Given the description of an element on the screen output the (x, y) to click on. 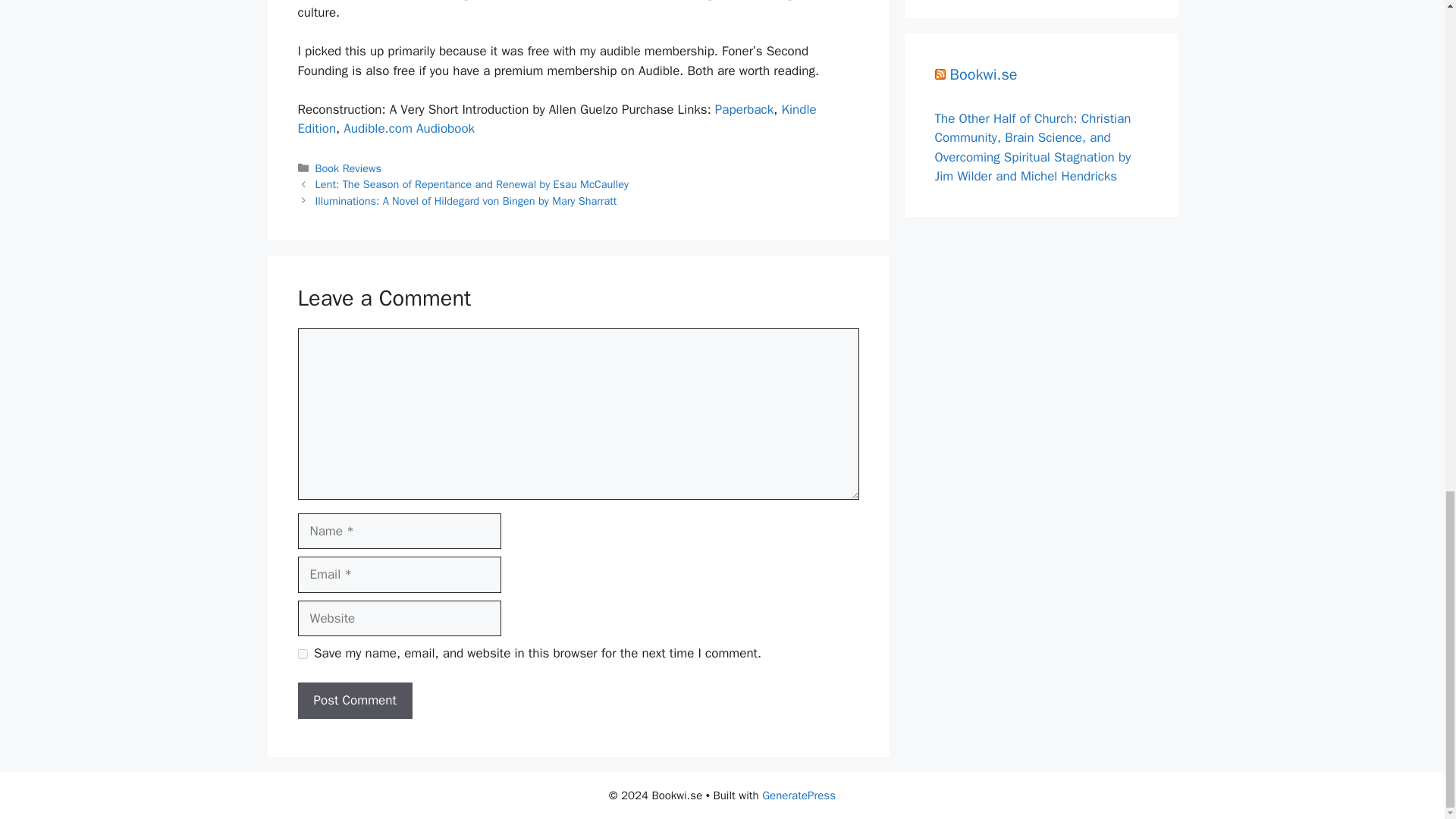
Audible.com Audiobook (408, 128)
GeneratePress (798, 795)
Post Comment (354, 700)
Lent: The Season of Repentance and Renewal by Esau McCaulley (471, 183)
yes (302, 654)
Book Reviews (348, 168)
Post Comment (354, 700)
Kindle Edition (556, 119)
Bookwi.se (982, 74)
Paperback (743, 109)
